Given the description of an element on the screen output the (x, y) to click on. 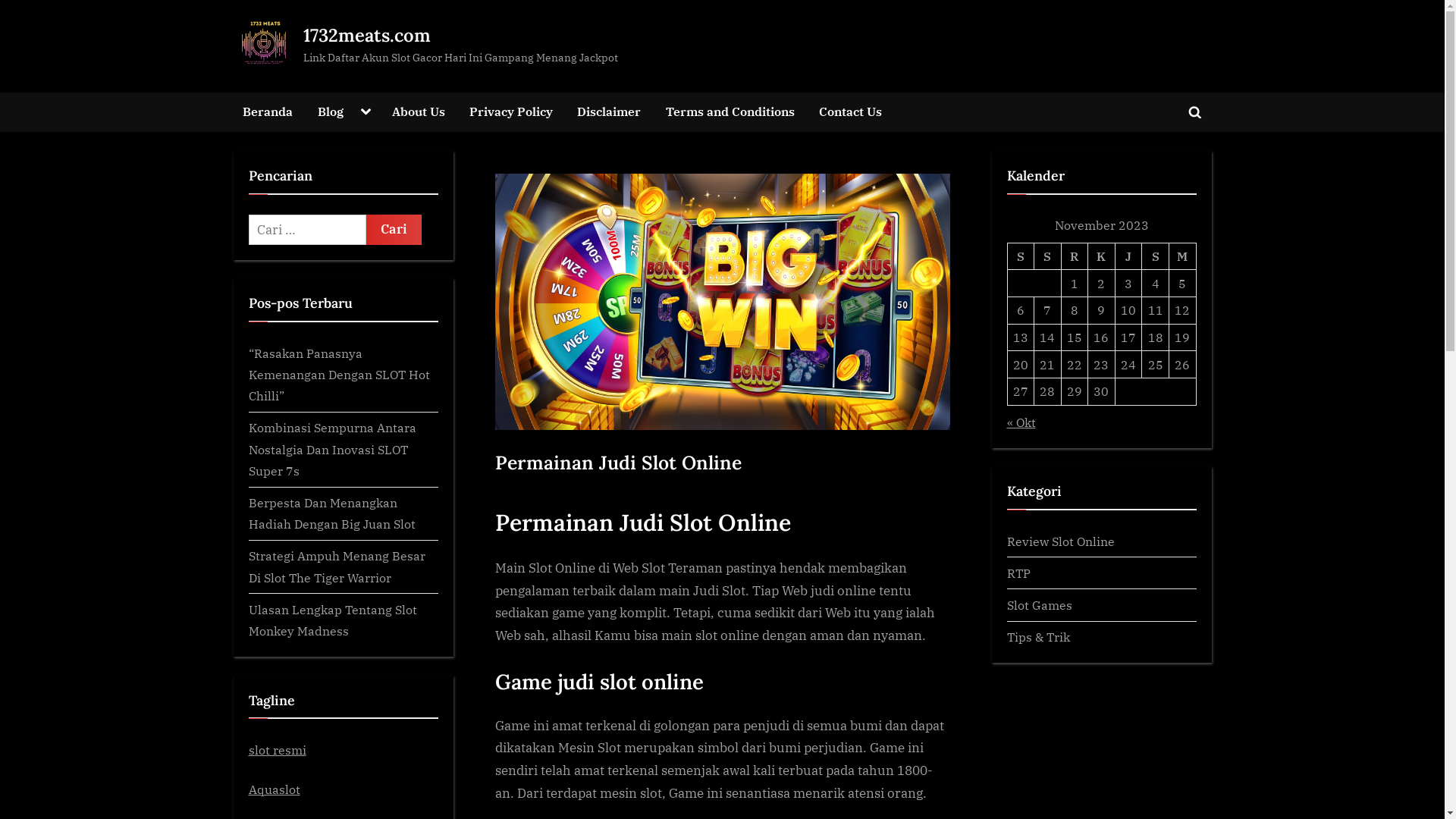
Review Slot Online Element type: text (1060, 541)
Contact Us Element type: text (850, 111)
Toggle sub-menu Element type: text (365, 111)
Disclaimer Element type: text (608, 111)
Privacy Policy Element type: text (510, 111)
Strategi Ampuh Menang Besar Di Slot The Tiger Warrior Element type: text (336, 565)
Blog Element type: text (330, 111)
Berpesta Dan Menangkan Hadiah Dengan Big Juan Slot Element type: text (331, 512)
By
admin Element type: text (528, 495)
1732meats.com Element type: text (366, 35)
About Us Element type: text (418, 111)
Aquaslot Element type: text (274, 789)
Slot Games Element type: text (1039, 604)
slot resmi Element type: text (277, 749)
Tips & Trik Element type: text (1038, 636)
RTP Element type: text (1018, 572)
Posted on
Juli 22, 2022 Element type: text (543, 495)
Beranda Element type: text (268, 111)
Toggle search form Element type: text (1194, 111)
Ulasan Lengkap Tentang Slot Monkey Madness Element type: text (332, 619)
Terms and Conditions Element type: text (729, 111)
Cari Element type: text (392, 229)
